Given the description of an element on the screen output the (x, y) to click on. 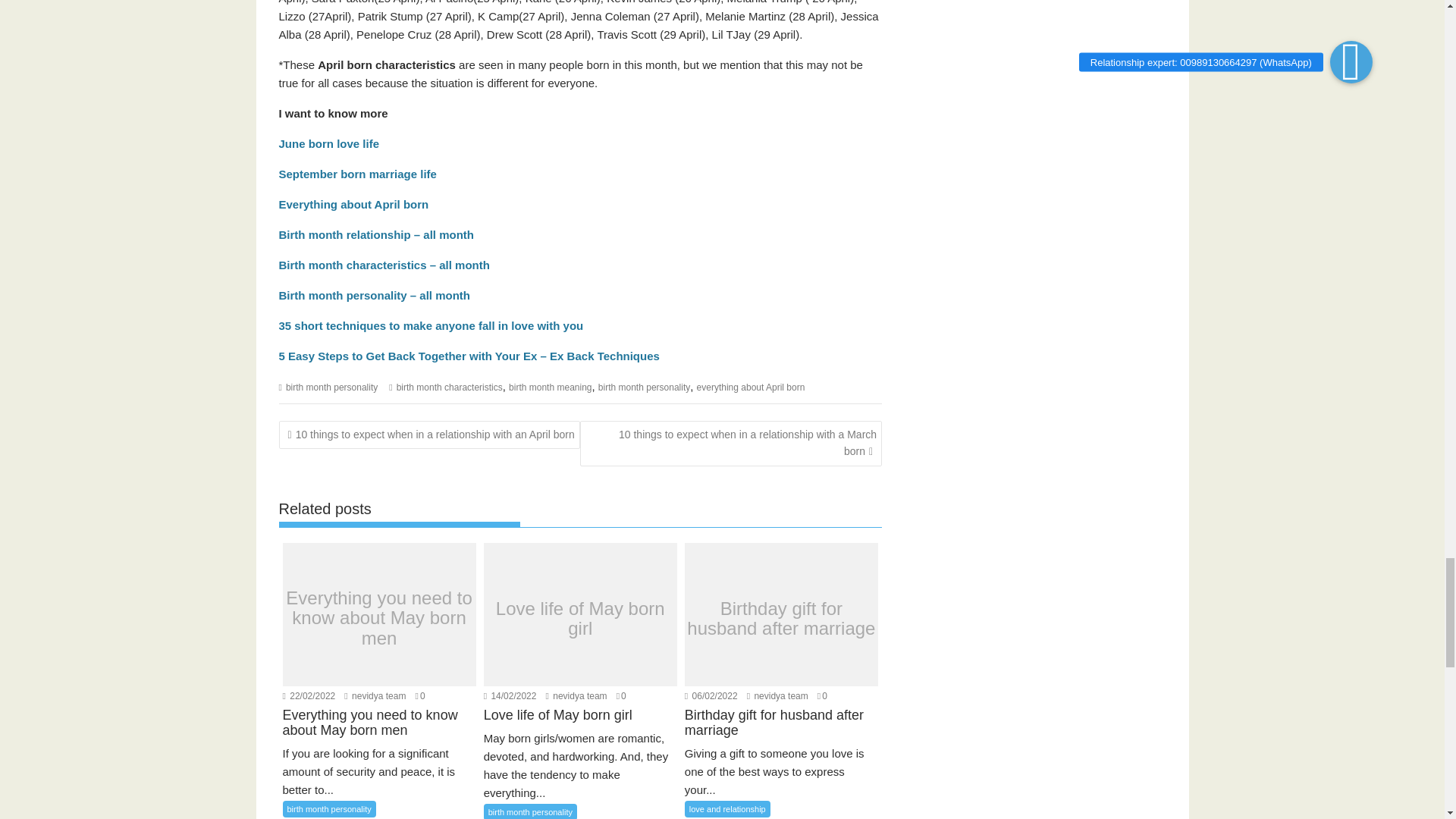
nevidya team (777, 696)
Birth month characteristics (352, 264)
nevidya team (576, 696)
June born love life (329, 143)
Everything about April born (354, 204)
35 short techniques to make anyone fall in love with you (431, 325)
Birth month personality (343, 295)
September born marriage life (357, 173)
nevidya team (374, 696)
